Given the description of an element on the screen output the (x, y) to click on. 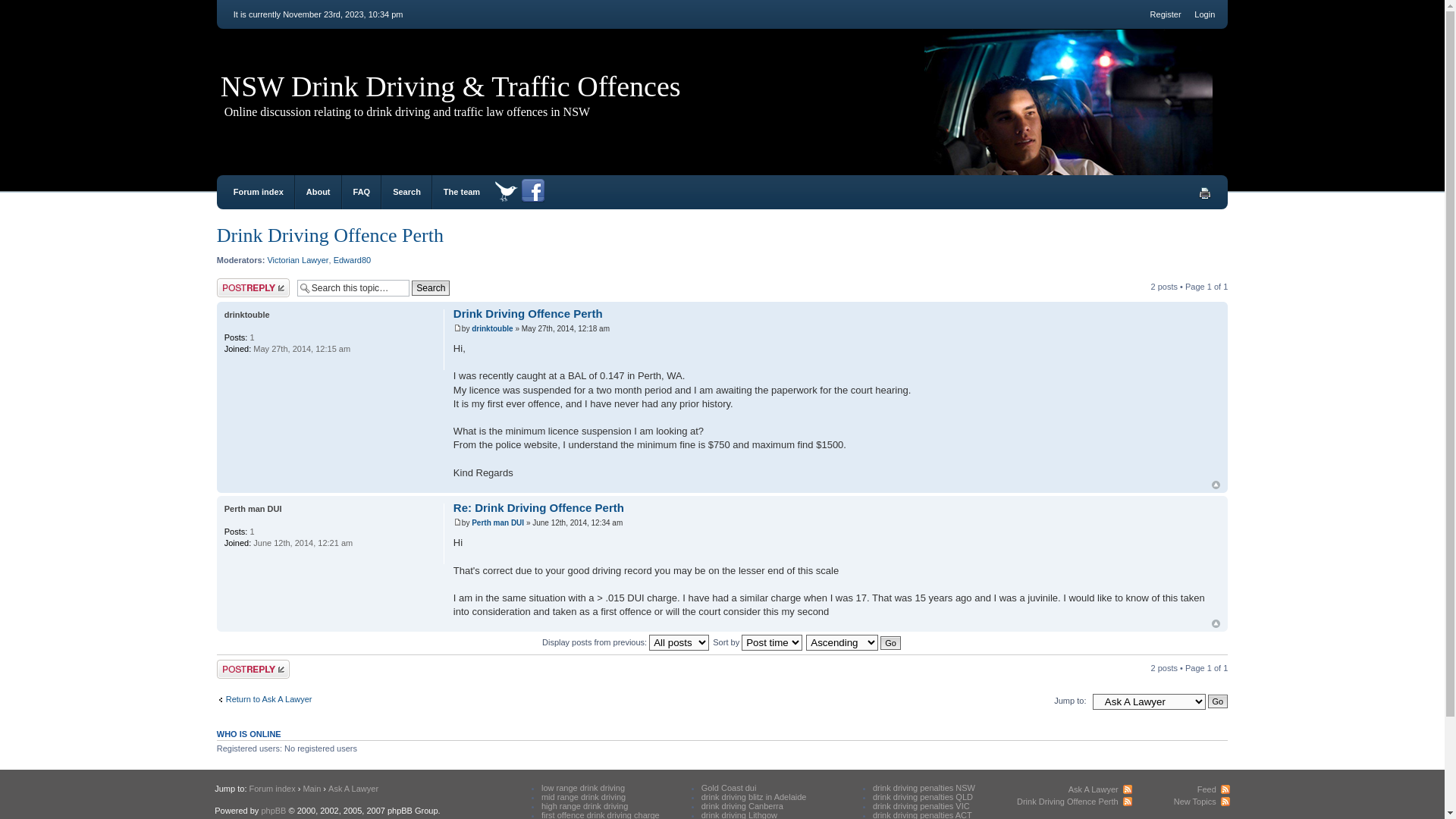
Feed Element type: text (1213, 788)
Perth man DUI Element type: text (253, 508)
Drink Driving Offence Perth Element type: text (1074, 801)
Post Element type: hover (457, 521)
Edward80 Element type: text (352, 259)
Search Element type: text (406, 191)
Login Element type: text (1204, 13)
Drink Driving Offence Perth Element type: text (527, 313)
drinktouble Element type: text (246, 314)
Gold Coast dui Element type: text (728, 787)
About Element type: text (318, 191)
The team Element type: text (461, 191)
Main Element type: text (311, 788)
drink driving Canberra Element type: text (742, 805)
Register Element type: text (1165, 13)
drinktouble Element type: text (491, 328)
high range drink driving Element type: text (584, 805)
Return to Ask A Lawyer Element type: text (264, 698)
drink driving penalties NSW Element type: text (923, 787)
Forum index Element type: text (258, 191)
low range drink driving Element type: text (582, 787)
Post Element type: hover (457, 327)
Re: Drink Driving Offence Perth Element type: text (538, 507)
Ask A Lawyer Element type: text (1100, 788)
mid range drink driving Element type: text (583, 796)
Post a reply Element type: text (252, 668)
Drink Driving Offence Perth Element type: text (329, 235)
drink driving penalties QLD Element type: text (922, 796)
FAQ Element type: text (361, 191)
drink driving penalties VIC Element type: text (920, 805)
Print view Element type: text (1204, 193)
drink driving blitz in Adelaide Element type: text (753, 796)
Go Element type: text (1218, 701)
NSW Drink Driving & Traffic Offences Element type: text (450, 86)
Search Element type: text (430, 287)
New Topics Element type: text (1201, 801)
Top Element type: text (1215, 484)
Go Element type: text (890, 642)
Ask A Lawyer Element type: text (353, 788)
Top Element type: text (1215, 623)
phpBB Element type: text (272, 810)
Post a reply Element type: text (252, 287)
Victorian Lawyer Element type: text (297, 259)
Perth man DUI Element type: text (497, 522)
Forum index Element type: text (271, 788)
